Given the description of an element on the screen output the (x, y) to click on. 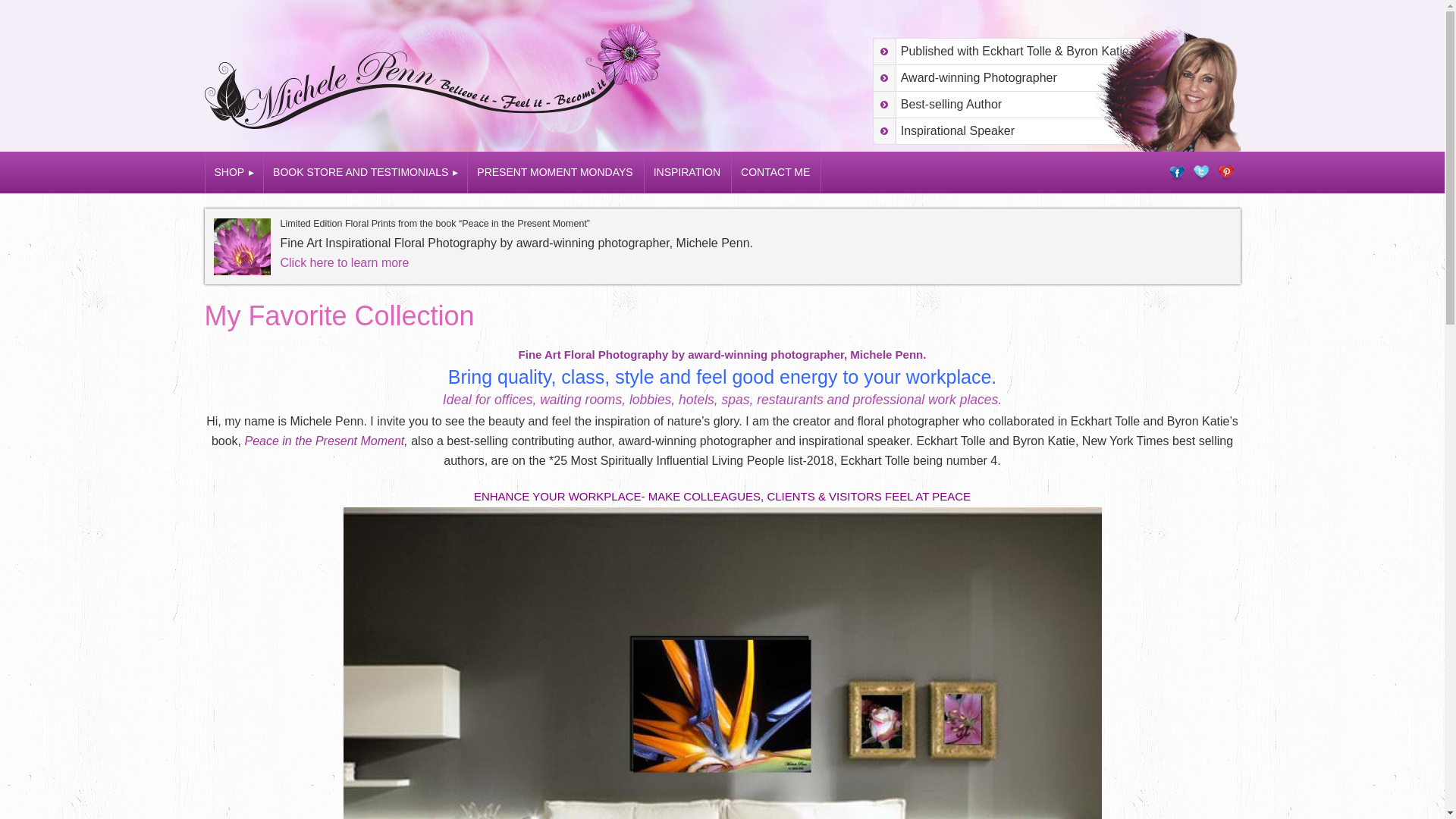
SHOP (234, 172)
Peace in the Present Moment (324, 440)
P (1225, 172)
Peace in the Present Moment book (324, 440)
T (1200, 172)
F (1177, 172)
MICHELE PENN, PEACE IN THE PRESENT MOMENT (440, 82)
PRESENT MOMENT MONDAYS (555, 172)
CONTACT ME (776, 172)
INSPIRATION (688, 172)
BOOK STORE AND TESTIMONIALS (365, 172)
Click here to learn more (345, 262)
